Given the description of an element on the screen output the (x, y) to click on. 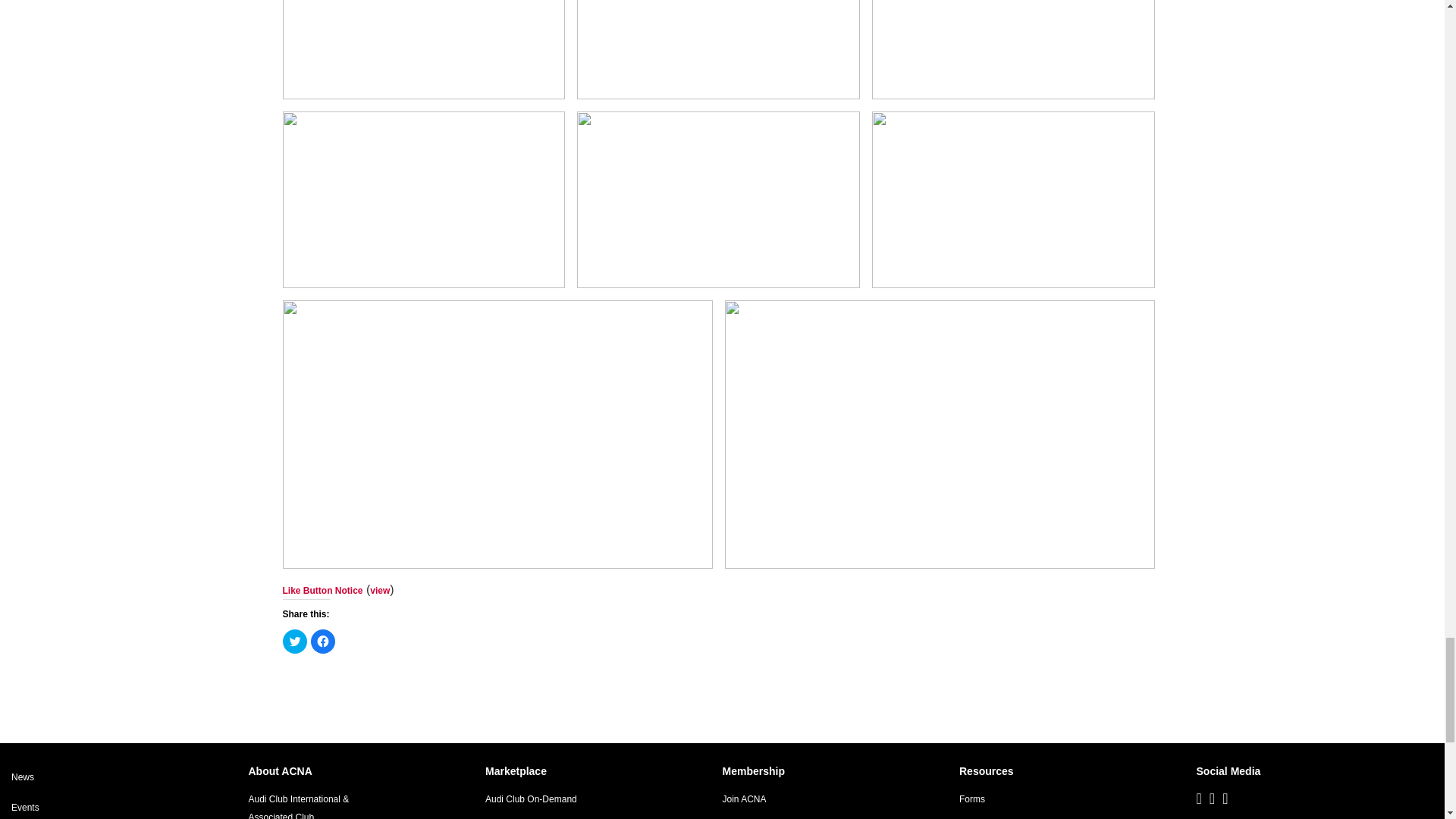
Click to share on Twitter (293, 641)
Click to view notice (379, 590)
Click to share on Facebook (322, 641)
